Given the description of an element on the screen output the (x, y) to click on. 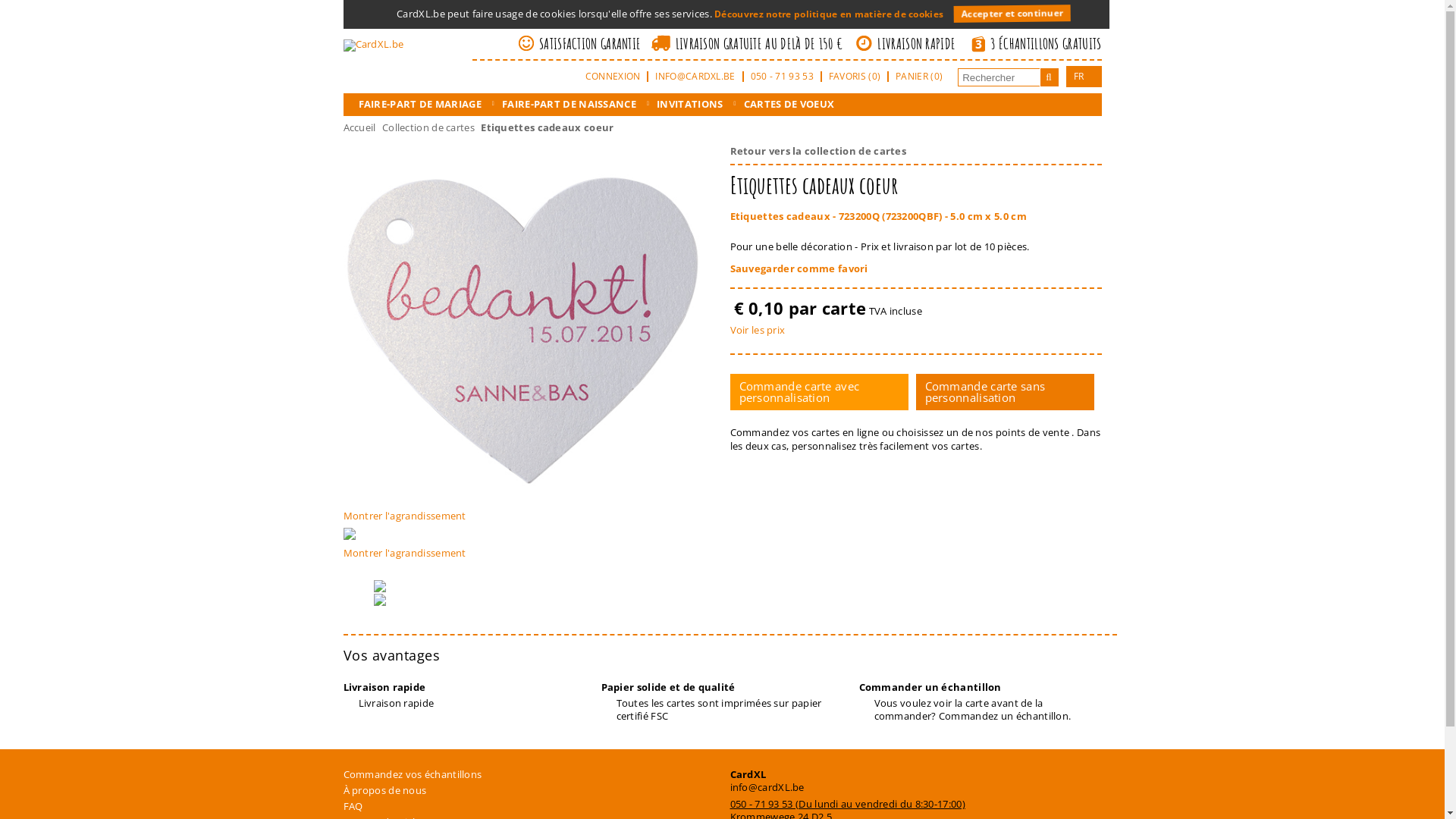
FAIRE-PART DE NAISSANCE Element type: text (569, 103)
Montrer l'agrandissement Element type: text (528, 509)
FAIRE-PART DE MARIAGE Element type: text (418, 103)
050 - 71 93 53 (Du lundi au vendredi du 8:30-17:00) Element type: text (846, 803)
INVITATIONS Element type: text (689, 103)
Sauvegarder comme favori Element type: text (798, 268)
Accepter et continuer Element type: text (1011, 14)
050 - 71 93 53 Element type: text (781, 76)
Ik accepteer Element type: text (1121, 18)
Accueil Element type: text (358, 127)
Retour vers la collection de cartes Element type: text (817, 150)
FR Element type: text (1078, 76)
CONNEXION Element type: text (612, 76)
PANIER (0) Element type: text (918, 76)
Montrer l'agrandissement Element type: text (528, 546)
Commande carte sans personnalisation Element type: text (1005, 391)
CARTES DE VOEUX Element type: text (788, 103)
INFO@CARDXL.BE Element type: text (694, 76)
CardXL.be Element type: hover (372, 43)
Commande carte avec personnalisation Element type: text (818, 391)
Voir les prix Element type: text (756, 329)
info@cardXL.be Element type: text (766, 786)
Collection de cartes Element type: text (428, 127)
FAVORIS (0) Element type: text (854, 76)
FAQ   Element type: text (514, 805)
